Given the description of an element on the screen output the (x, y) to click on. 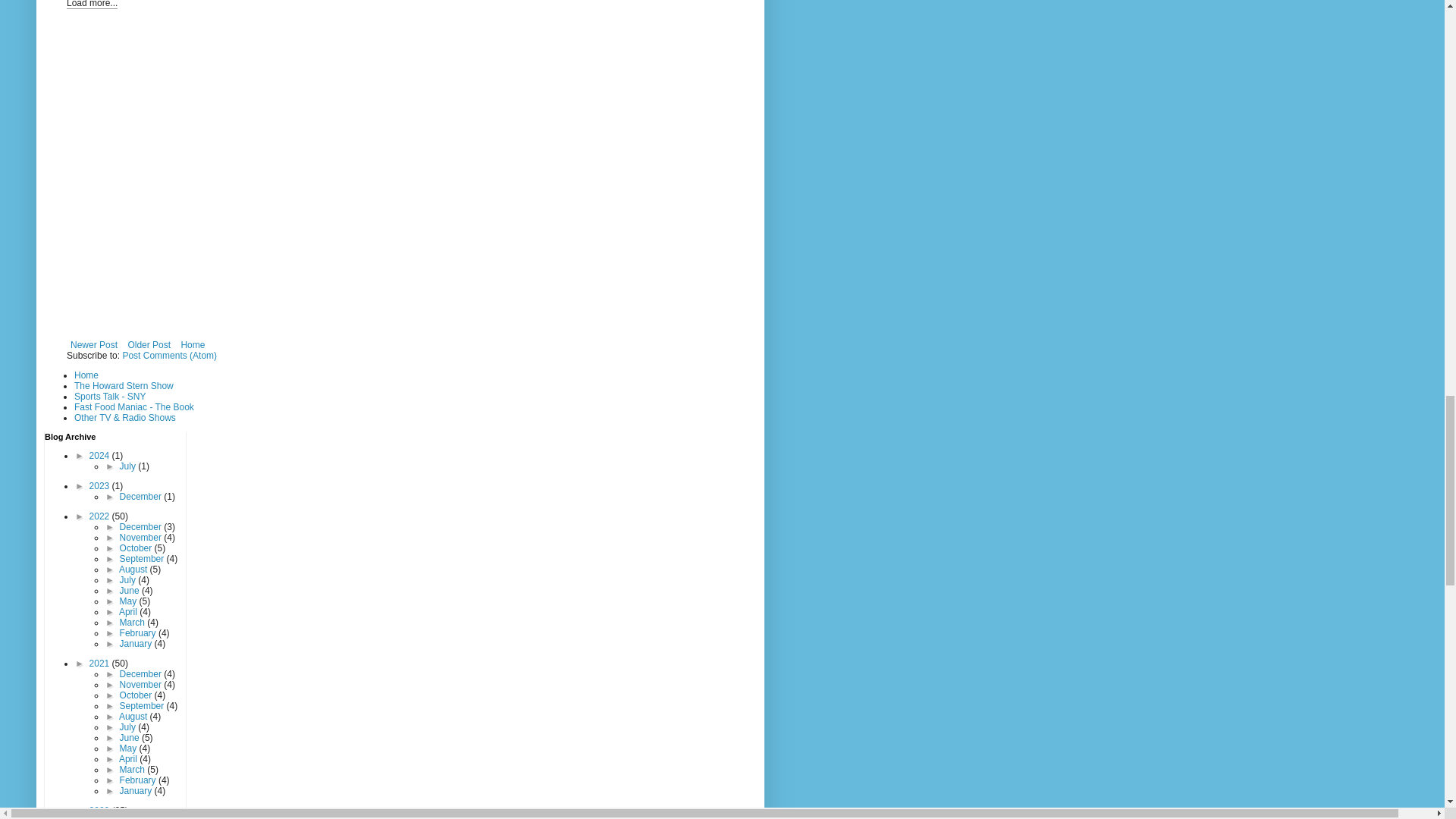
Load more... (91, 4)
The Howard Stern Show (123, 385)
Home (192, 344)
Sports Talk - SNY (109, 396)
Older Post (148, 344)
Newer Post (93, 344)
Fast Food Maniac - The Book (133, 407)
Older Post (148, 344)
Home (86, 375)
Newer Post (93, 344)
